Given the description of an element on the screen output the (x, y) to click on. 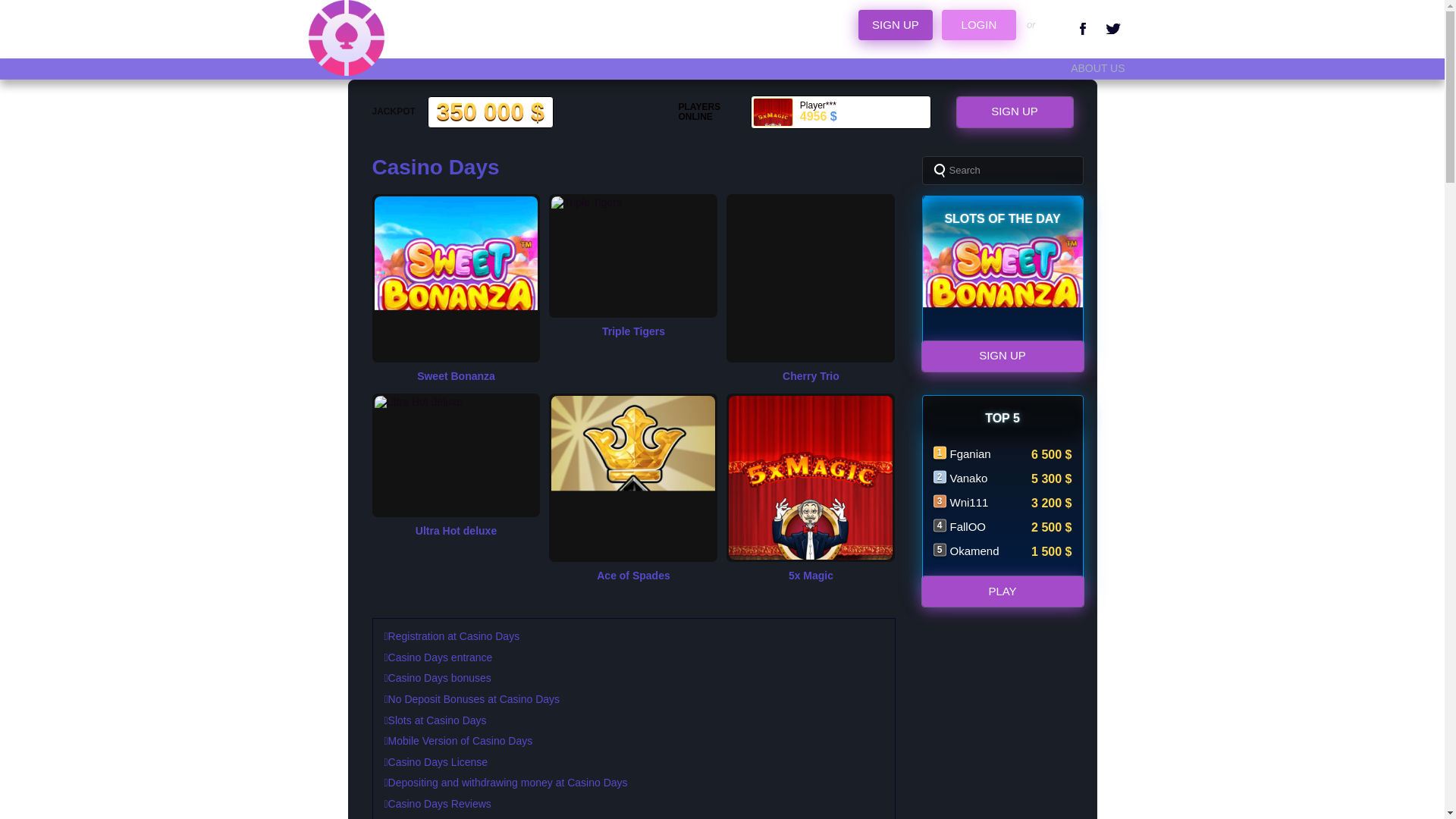
LOGIN (978, 24)
ABOUT US (1097, 68)
Ace of Spades (632, 576)
SIGN UP (895, 24)
casino (345, 38)
Ultra Hot deluxe (455, 531)
SIGN UP (1014, 111)
Sweet Bonanza (455, 377)
5x Magic (810, 576)
Triple Tigers (632, 332)
Cherry Trio (810, 377)
